Given the description of an element on the screen output the (x, y) to click on. 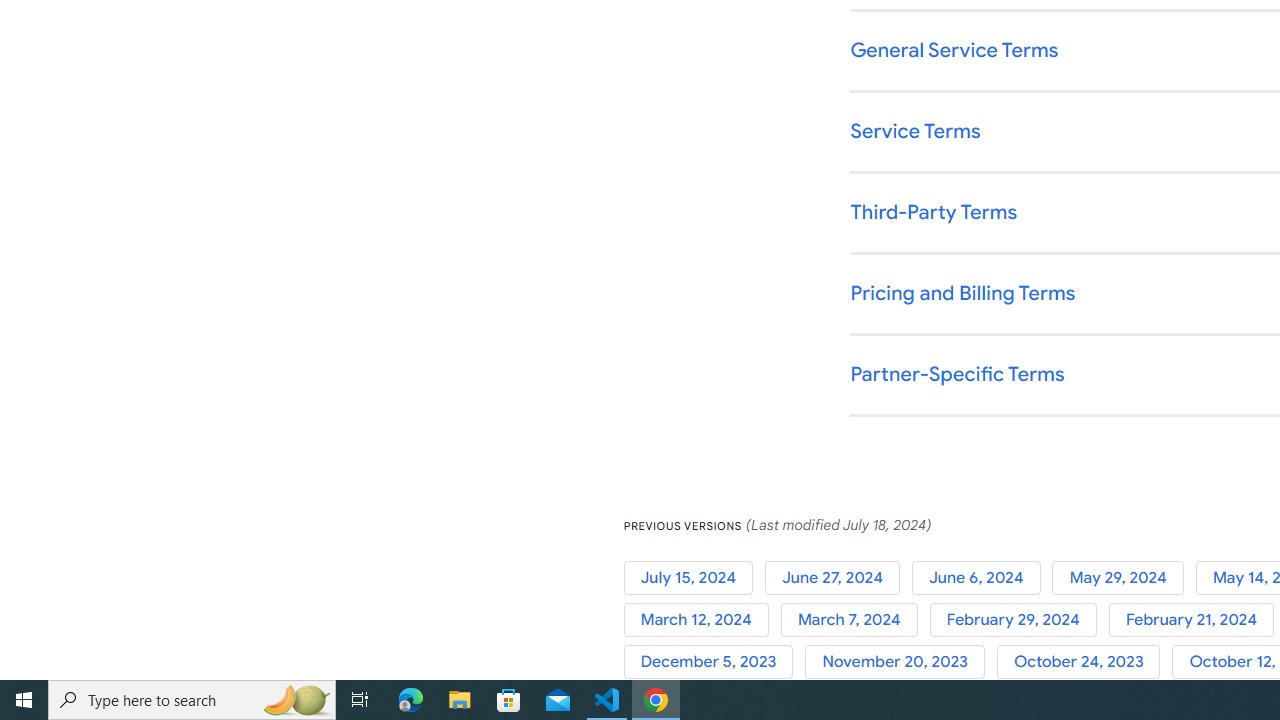
October 24, 2023 (1083, 661)
May 29, 2024 (1123, 577)
December 5, 2023 (714, 661)
June 6, 2024 (982, 577)
March 7, 2024 (854, 620)
March 12, 2024 (701, 620)
June 27, 2024 (837, 577)
July 15, 2024 (694, 577)
February 29, 2024 (1018, 620)
November 20, 2023 (901, 661)
